Given the description of an element on the screen output the (x, y) to click on. 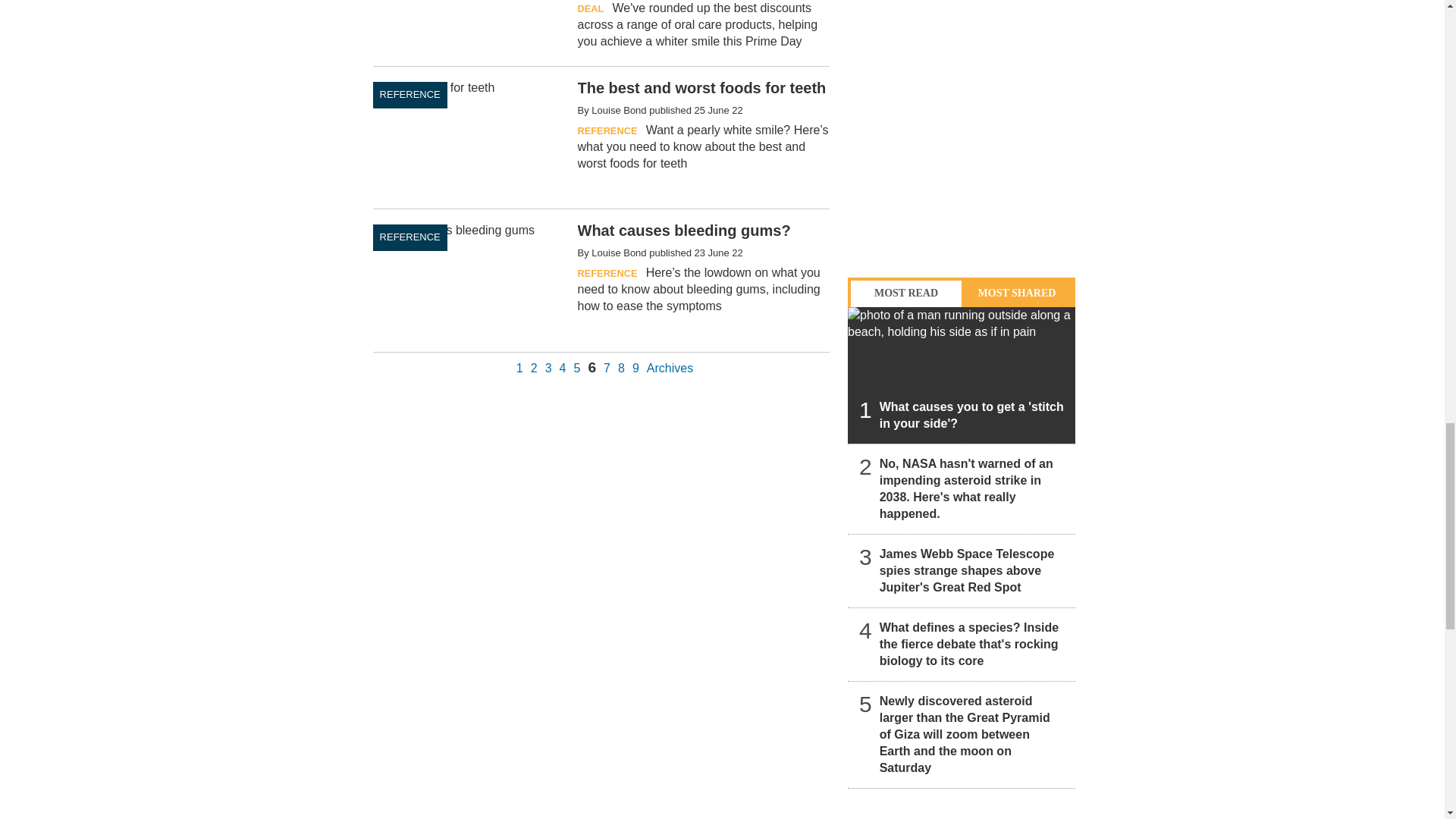
What causes you to get a 'stitch in your side'? (961, 375)
